Given the description of an element on the screen output the (x, y) to click on. 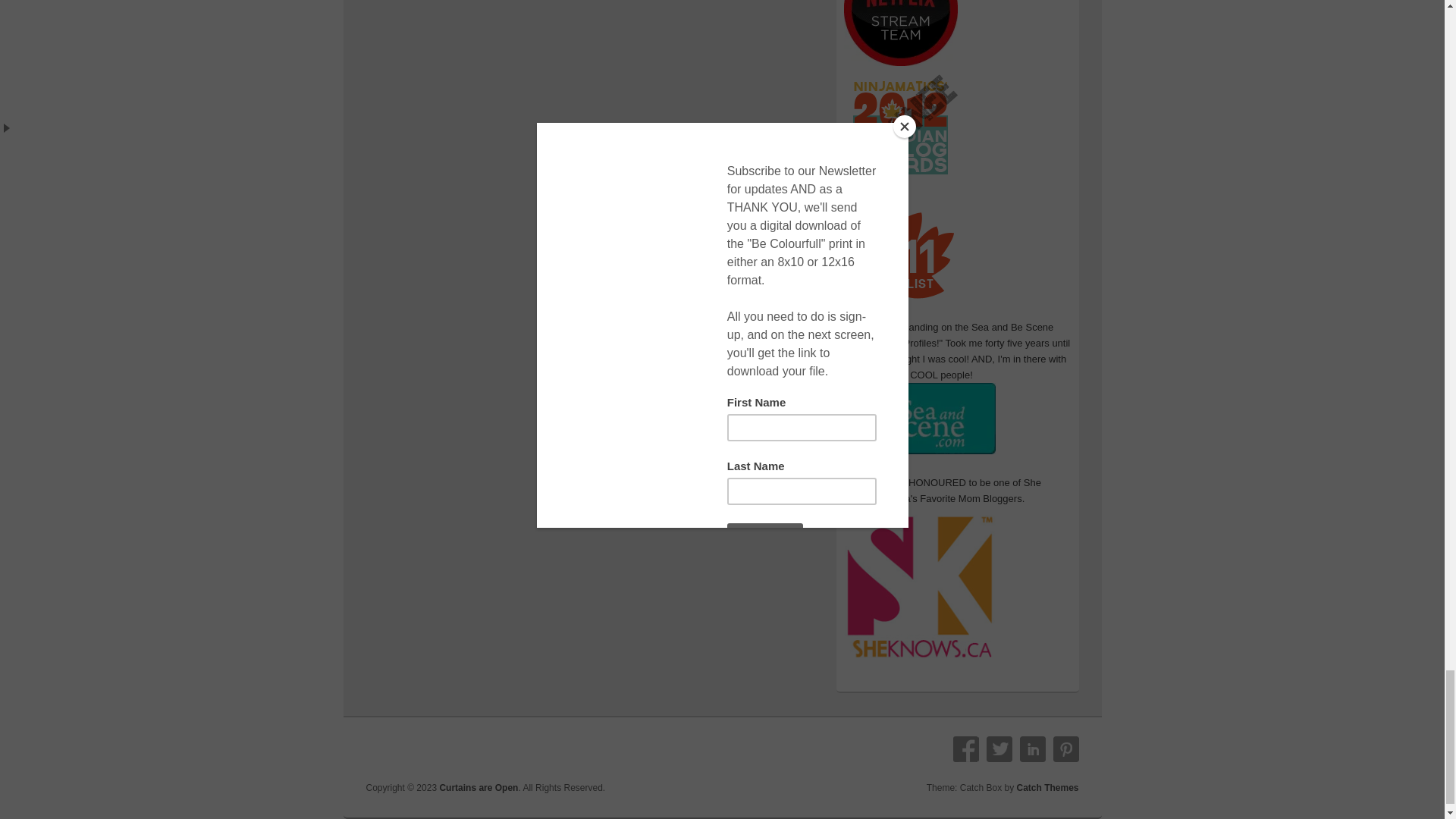
Catch Themes (1047, 787)
Curtains are Open (478, 787)
Ninjamatics' 2012 Canadian Weblog Awards (899, 180)
